Given the description of an element on the screen output the (x, y) to click on. 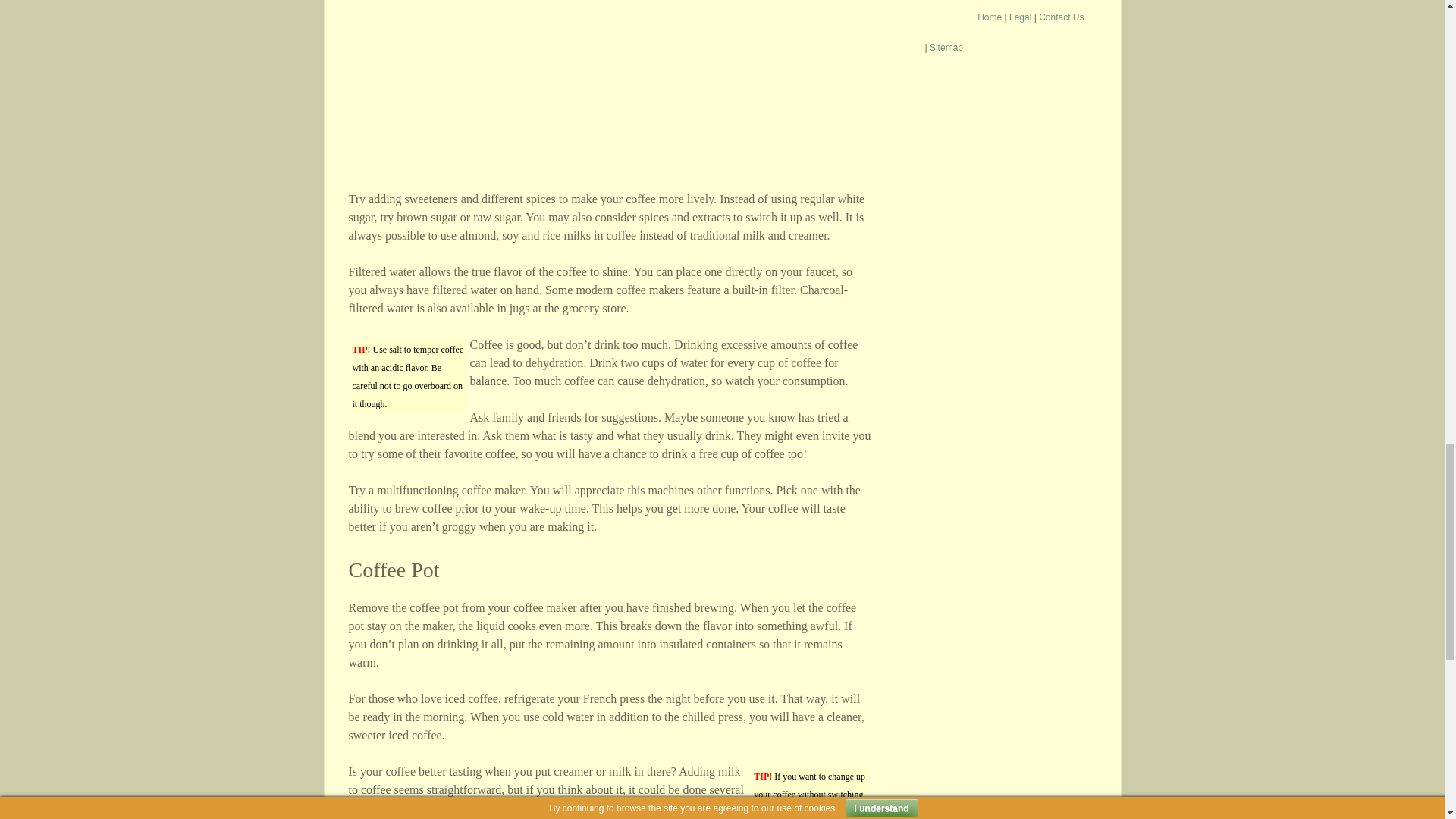
Legal (1019, 17)
Sitemap (946, 47)
Advertisement (610, 95)
Contact Us (1061, 17)
Home (988, 17)
